Given the description of an element on the screen output the (x, y) to click on. 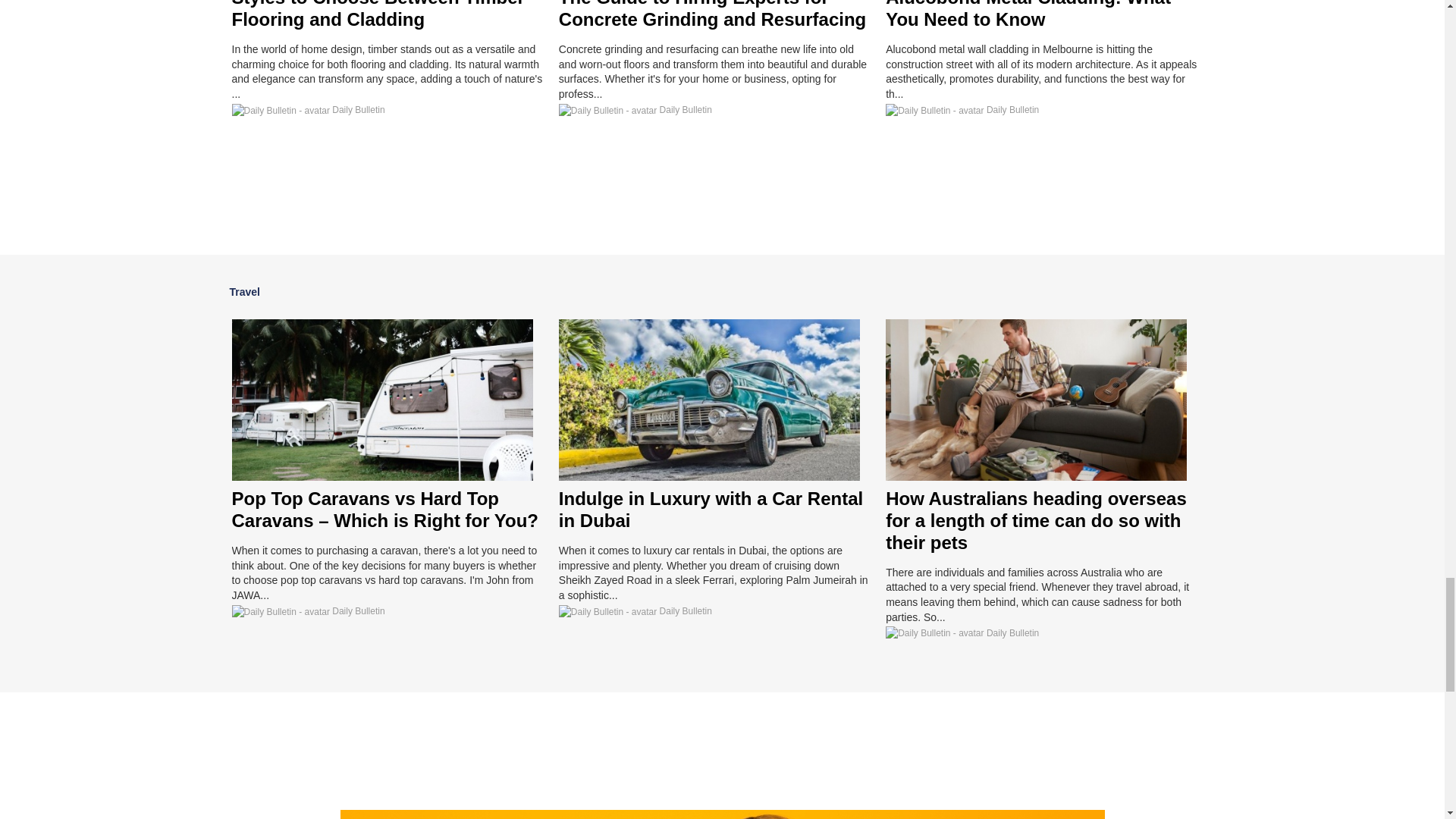
Alucobond Metal Cladding: What You Need to Know (1027, 14)
Styles to Choose Between Timber Flooring and Cladding (377, 14)
Indulge in Luxury with a Car Rental in Dubai (711, 509)
